Given the description of an element on the screen output the (x, y) to click on. 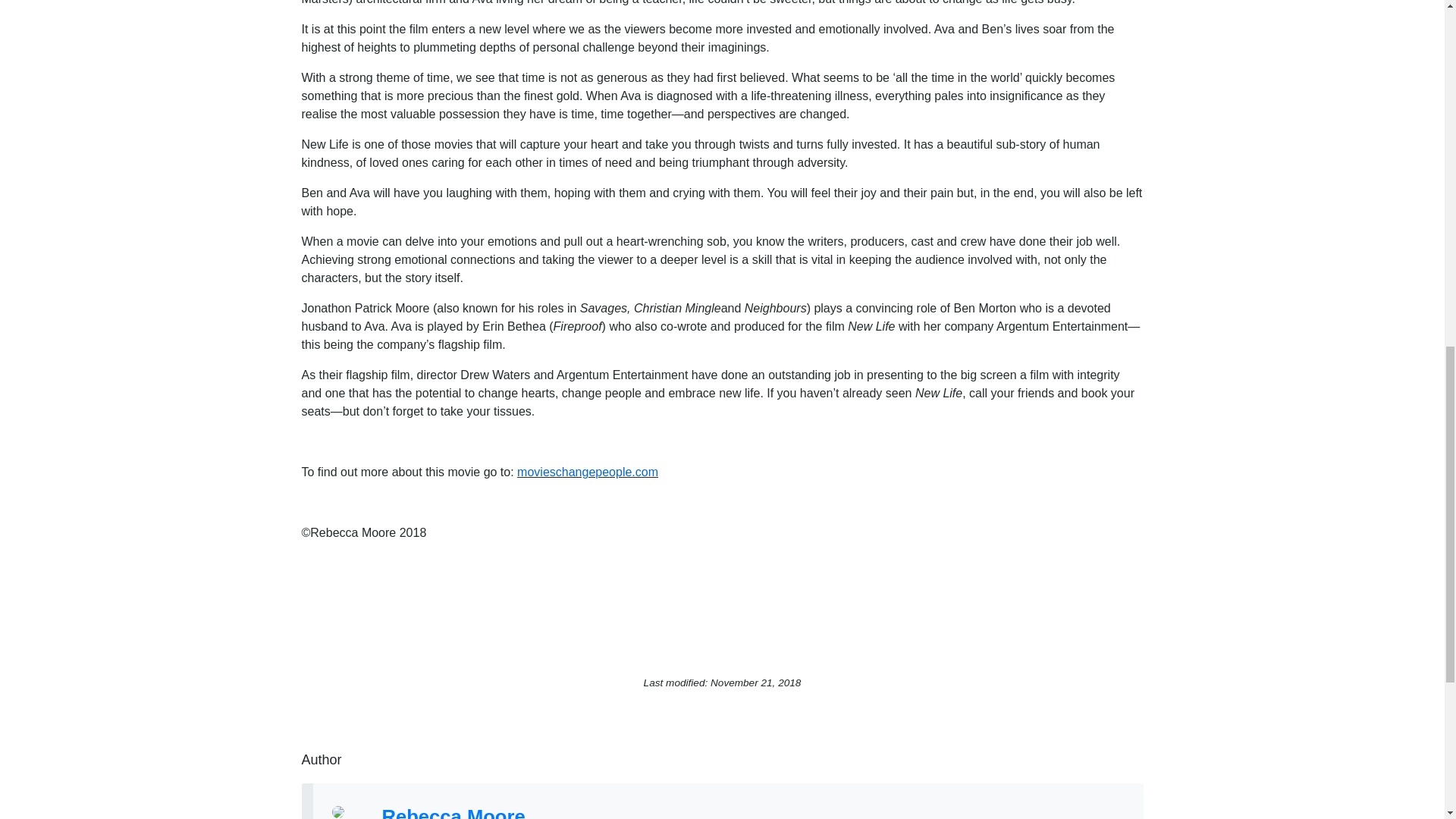
Rebecca Moore (453, 812)
movieschangepeople.com (587, 472)
